Given the description of an element on the screen output the (x, y) to click on. 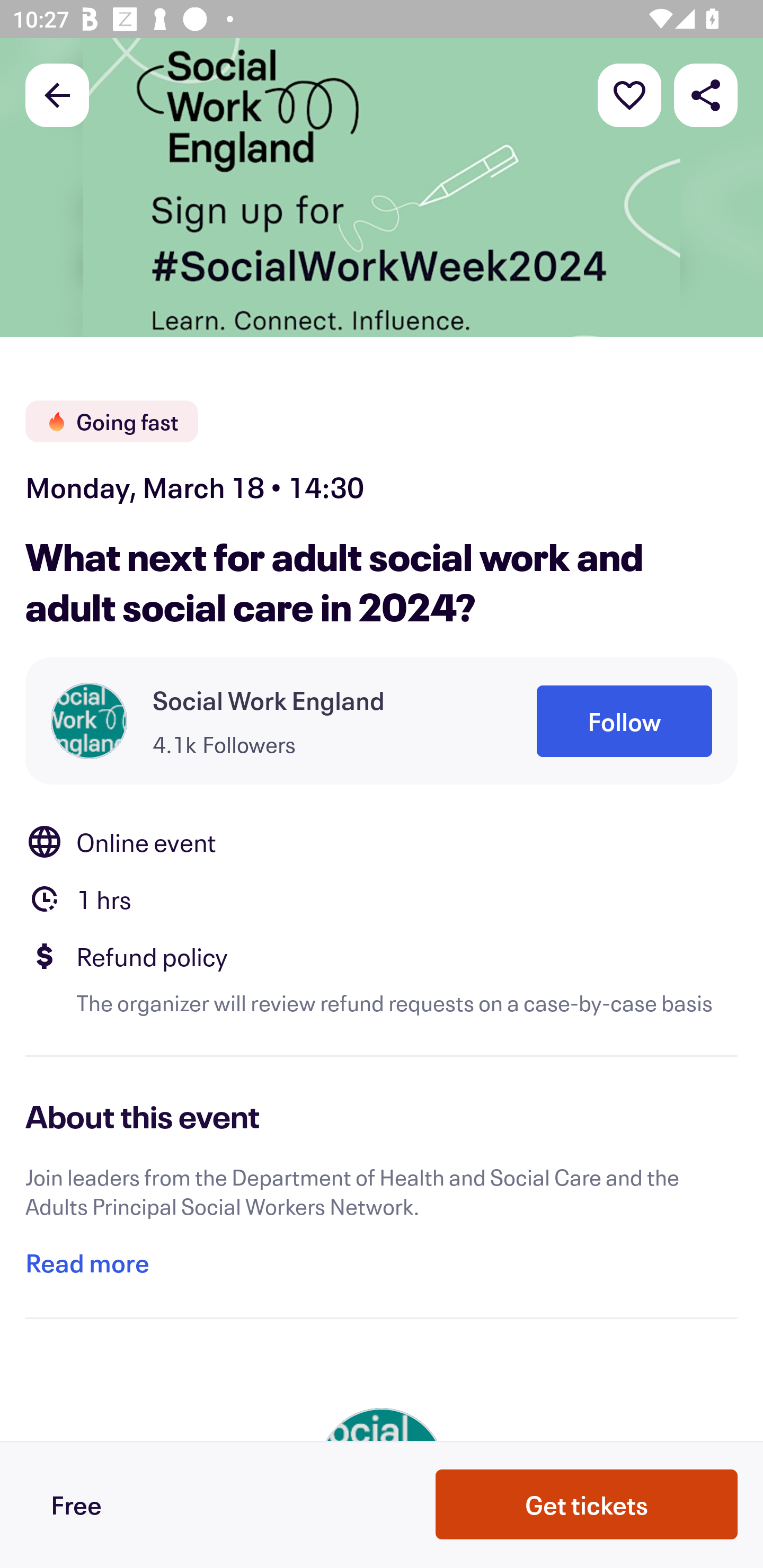
Back (57, 94)
More (629, 94)
Share (705, 94)
Social Work England (268, 699)
Organizer profile picture (89, 720)
Follow (623, 720)
Location Online event (381, 840)
Read more (87, 1262)
Get tickets (586, 1504)
